Given the description of an element on the screen output the (x, y) to click on. 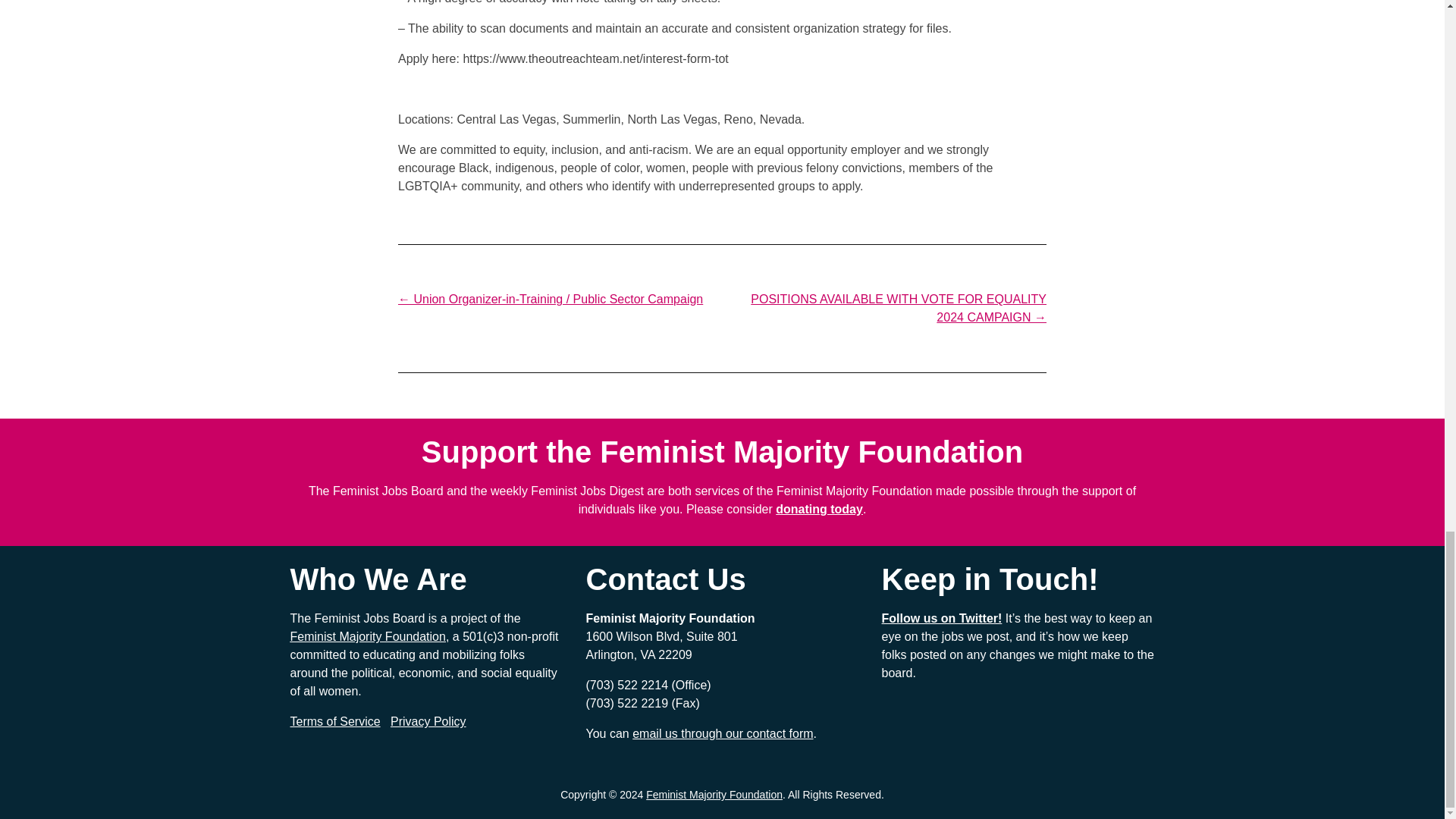
Feminist Majority Foundation (714, 794)
Feminist Majority Foundation (367, 635)
Terms of Service (334, 721)
Privacy Policy (427, 721)
donating today (819, 508)
email us through our contact form (721, 733)
Follow us on Twitter! (942, 617)
